Given the description of an element on the screen output the (x, y) to click on. 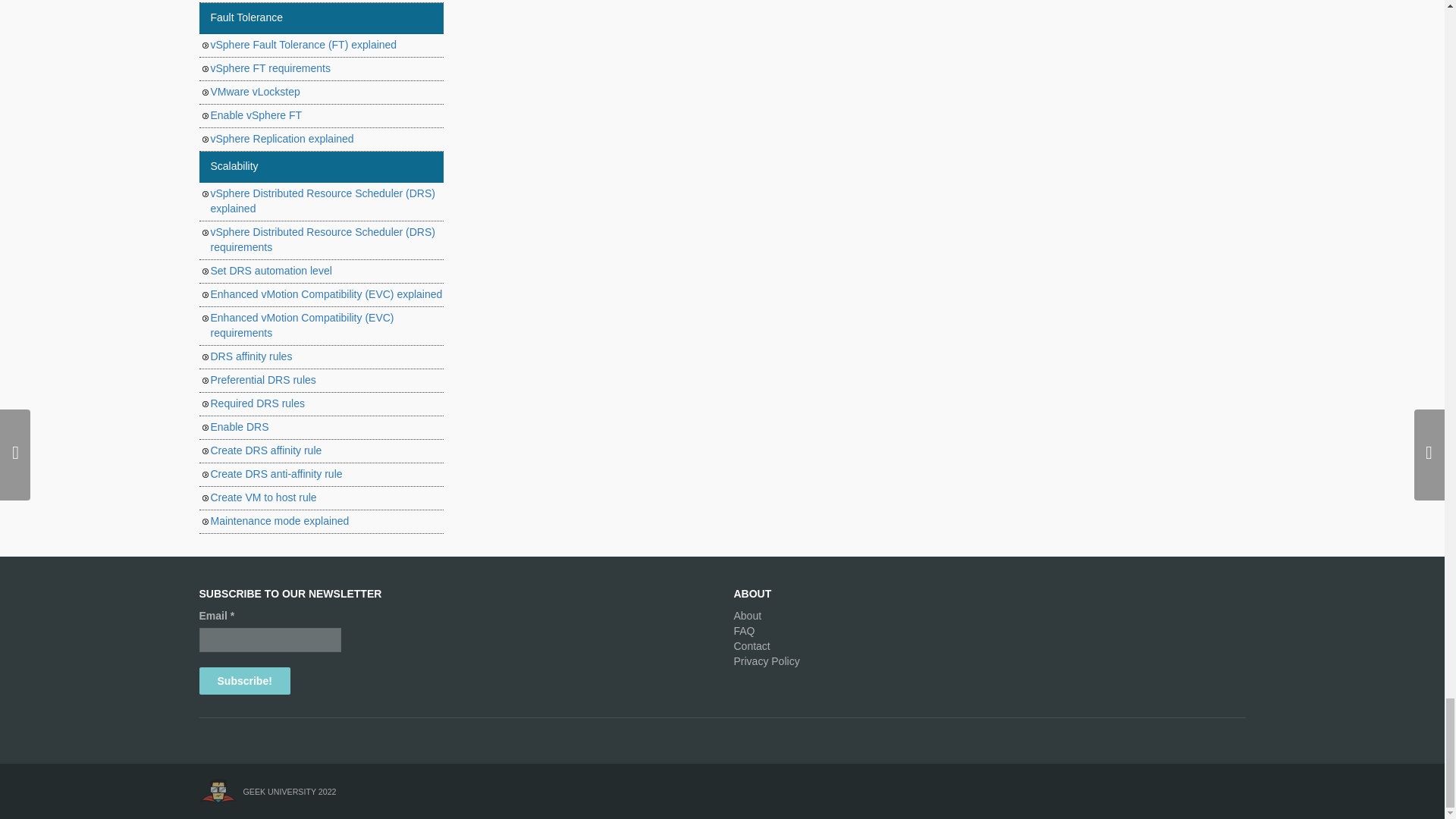
Email (269, 639)
Subscribe! (243, 680)
